Given the description of an element on the screen output the (x, y) to click on. 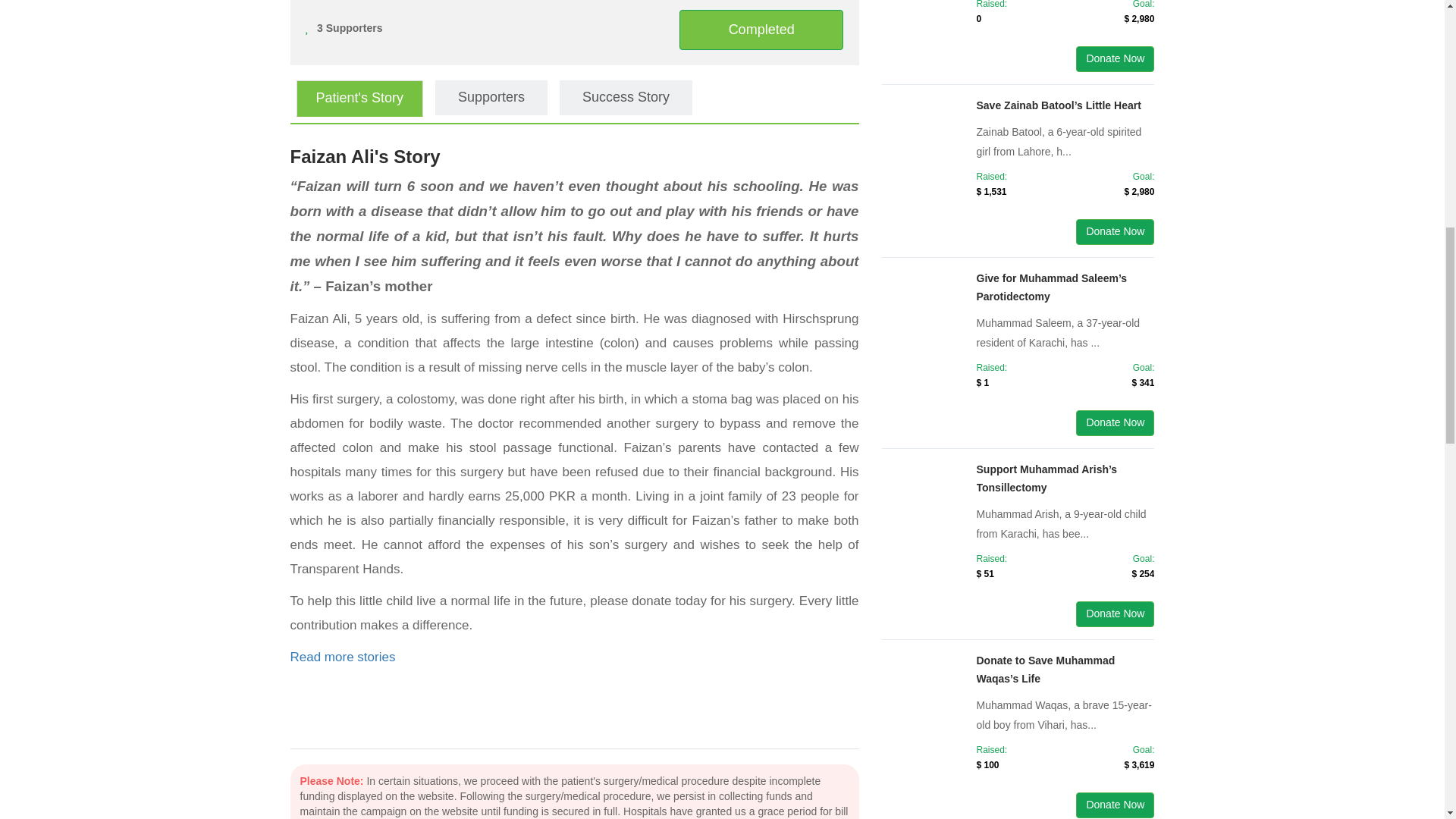
Success Story (626, 97)
Supporters (491, 97)
Read more stories (341, 657)
Completed (761, 28)
Completed (761, 29)
Patient's Story (359, 98)
